Given the description of an element on the screen output the (x, y) to click on. 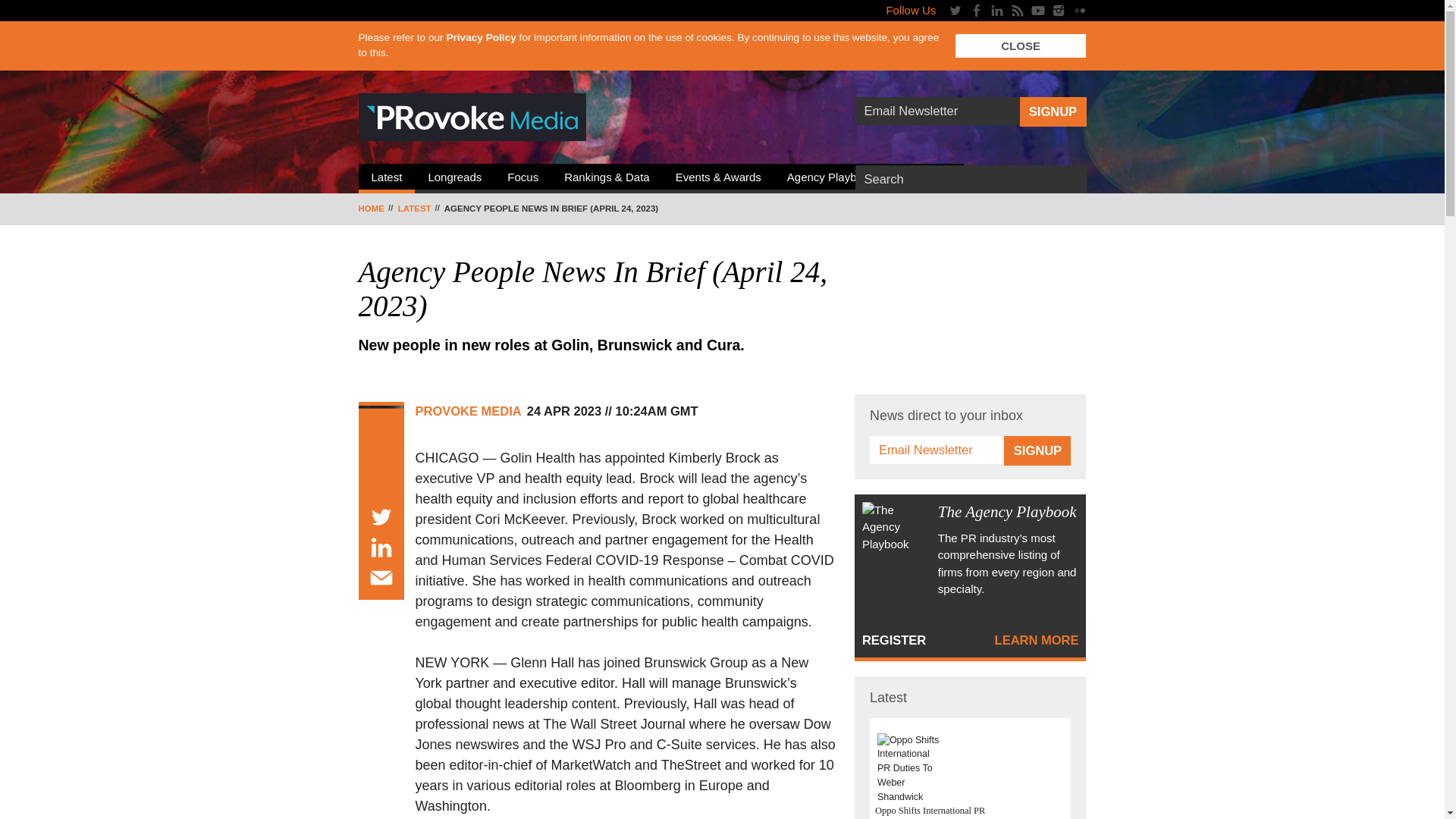
CLOSE (1020, 45)
Privacy Policy (480, 37)
SIGNUP (1051, 111)
Focus (523, 178)
Longreads (454, 178)
Latest (386, 178)
Home (376, 208)
Privacy Policy (480, 37)
Agency Playbook (831, 178)
A-Z News (925, 178)
